Given the description of an element on the screen output the (x, y) to click on. 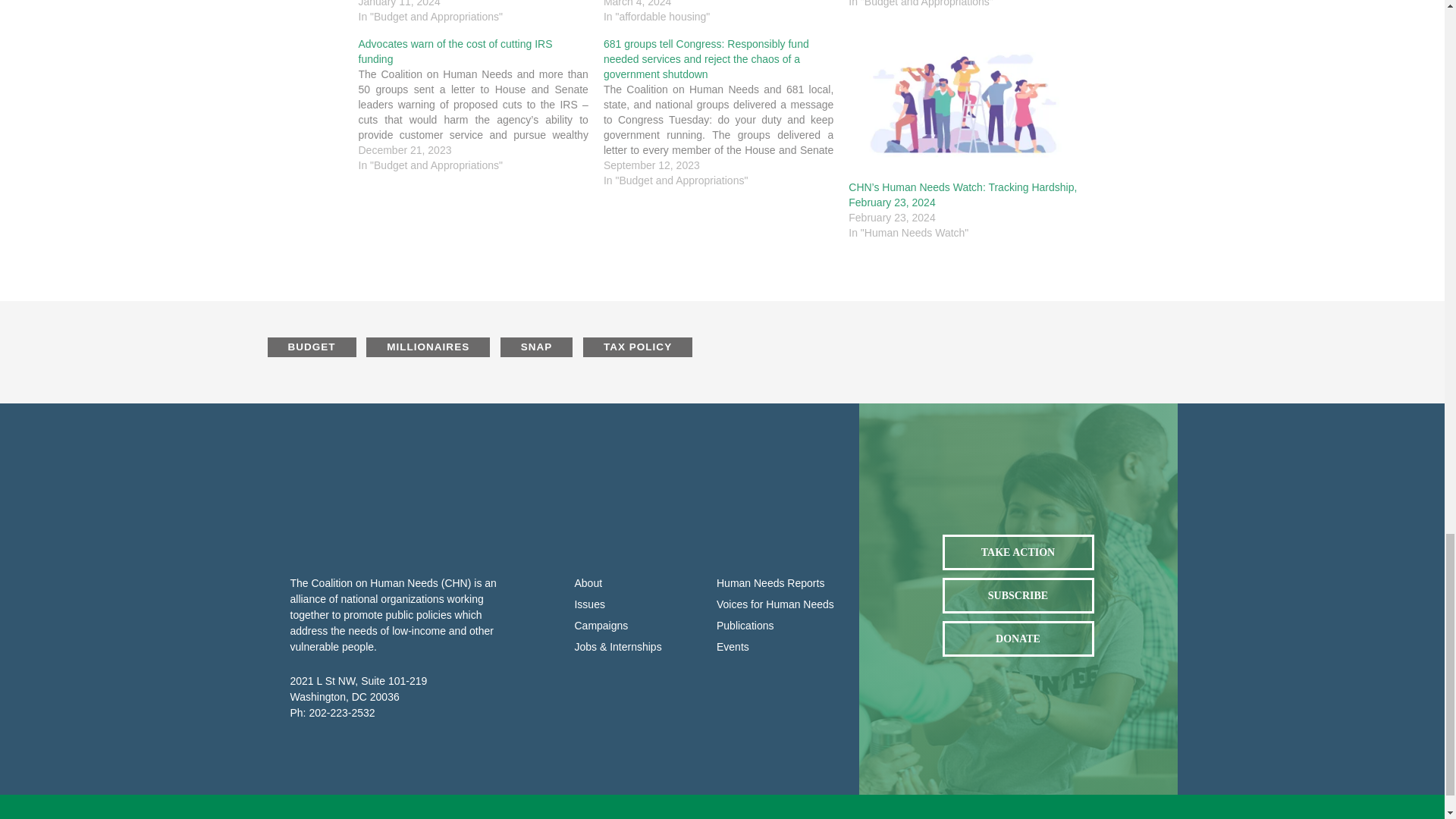
Issues (633, 604)
Advocates warn of the cost of cutting IRS funding  (454, 51)
About (633, 583)
Campaigns (633, 625)
